Given the description of an element on the screen output the (x, y) to click on. 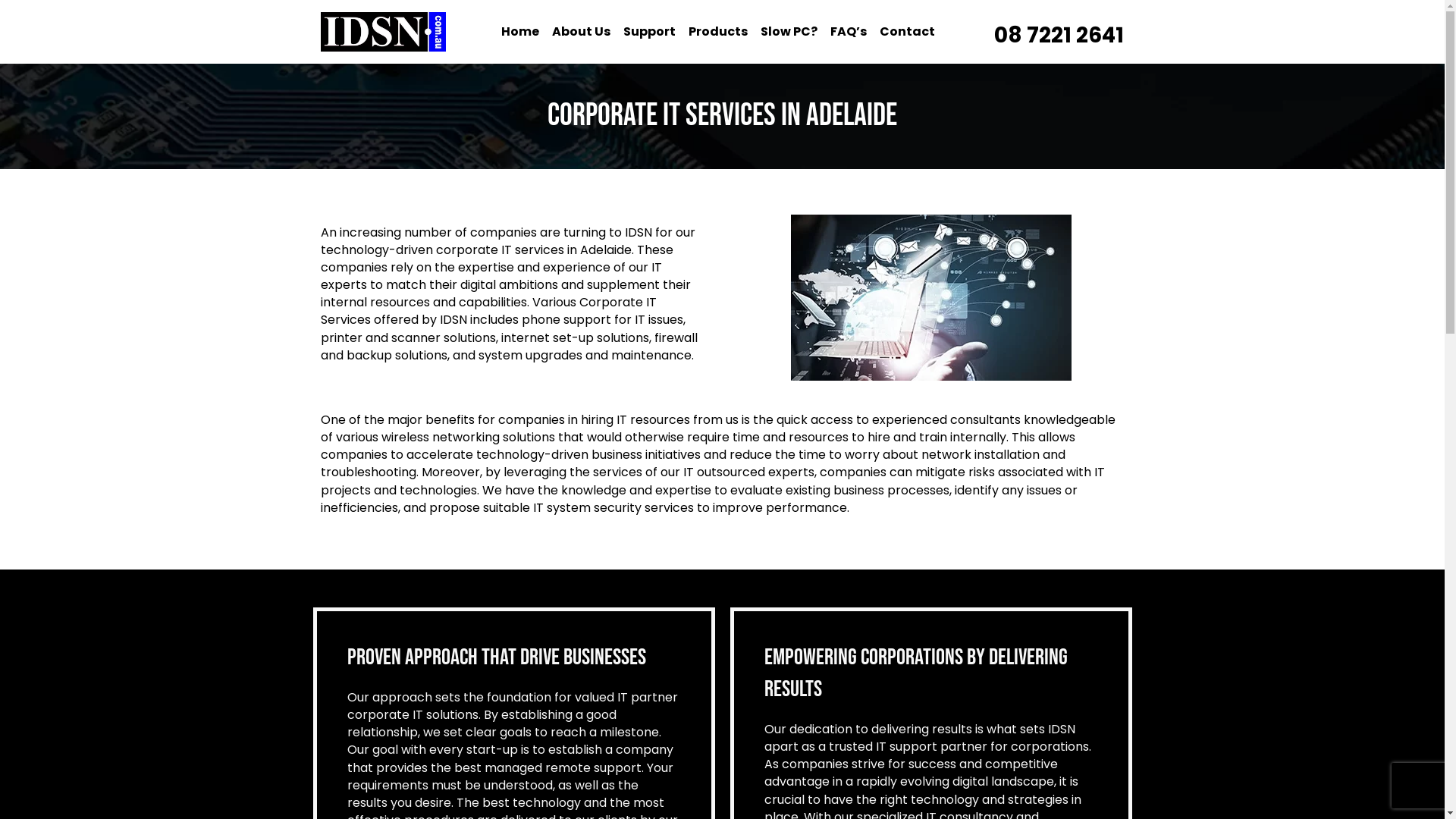
08 7221 2641 Element type: text (1058, 35)
Support Element type: text (649, 31)
Home Element type: text (520, 31)
Products Element type: text (717, 31)
Corporate IT Services | IDSN Element type: hover (930, 297)
Slow PC? Element type: text (788, 31)
Contact Element type: text (907, 31)
About Us Element type: text (581, 31)
